Given the description of an element on the screen output the (x, y) to click on. 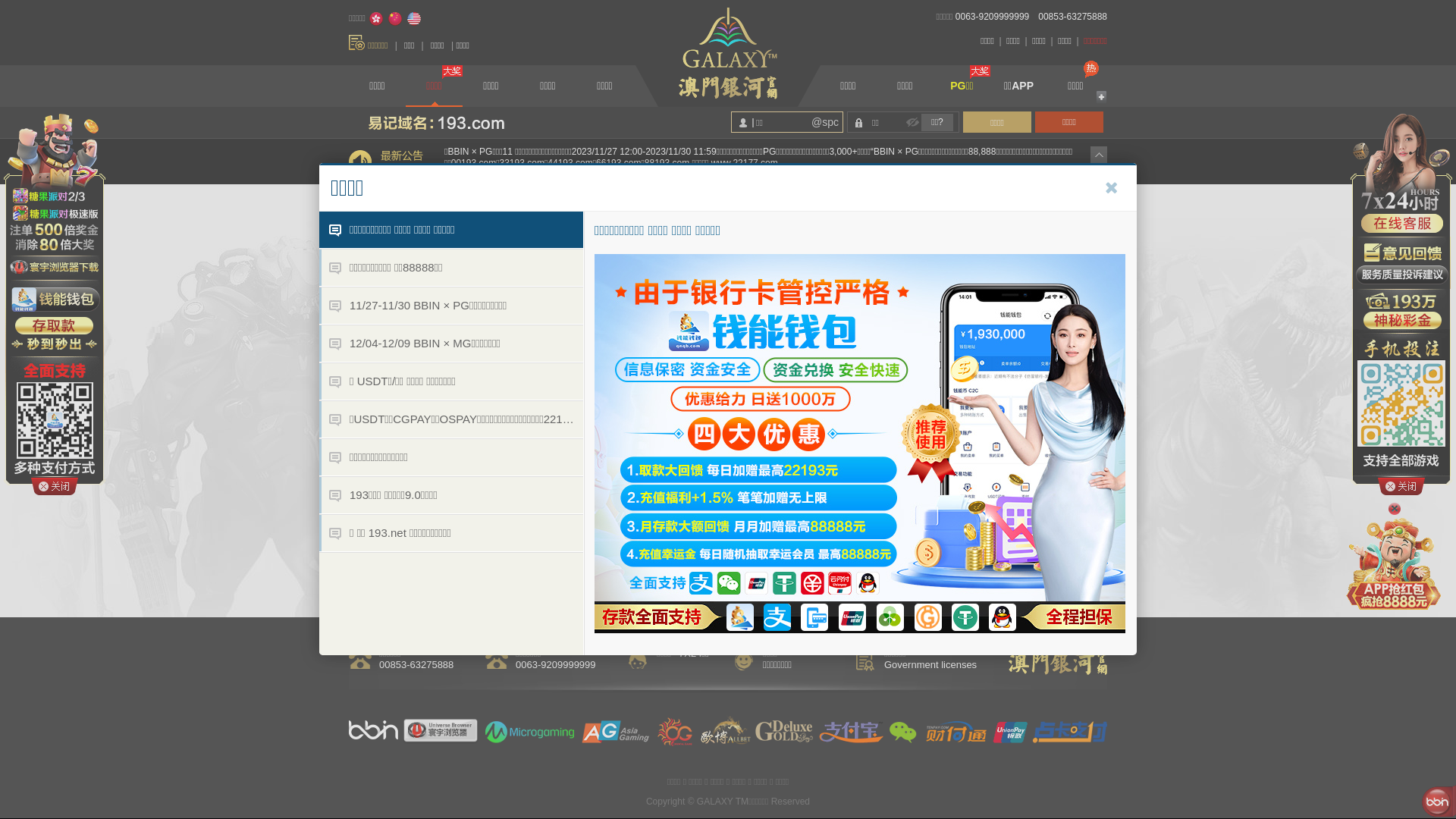
English Element type: hover (413, 18)
